Given the description of an element on the screen output the (x, y) to click on. 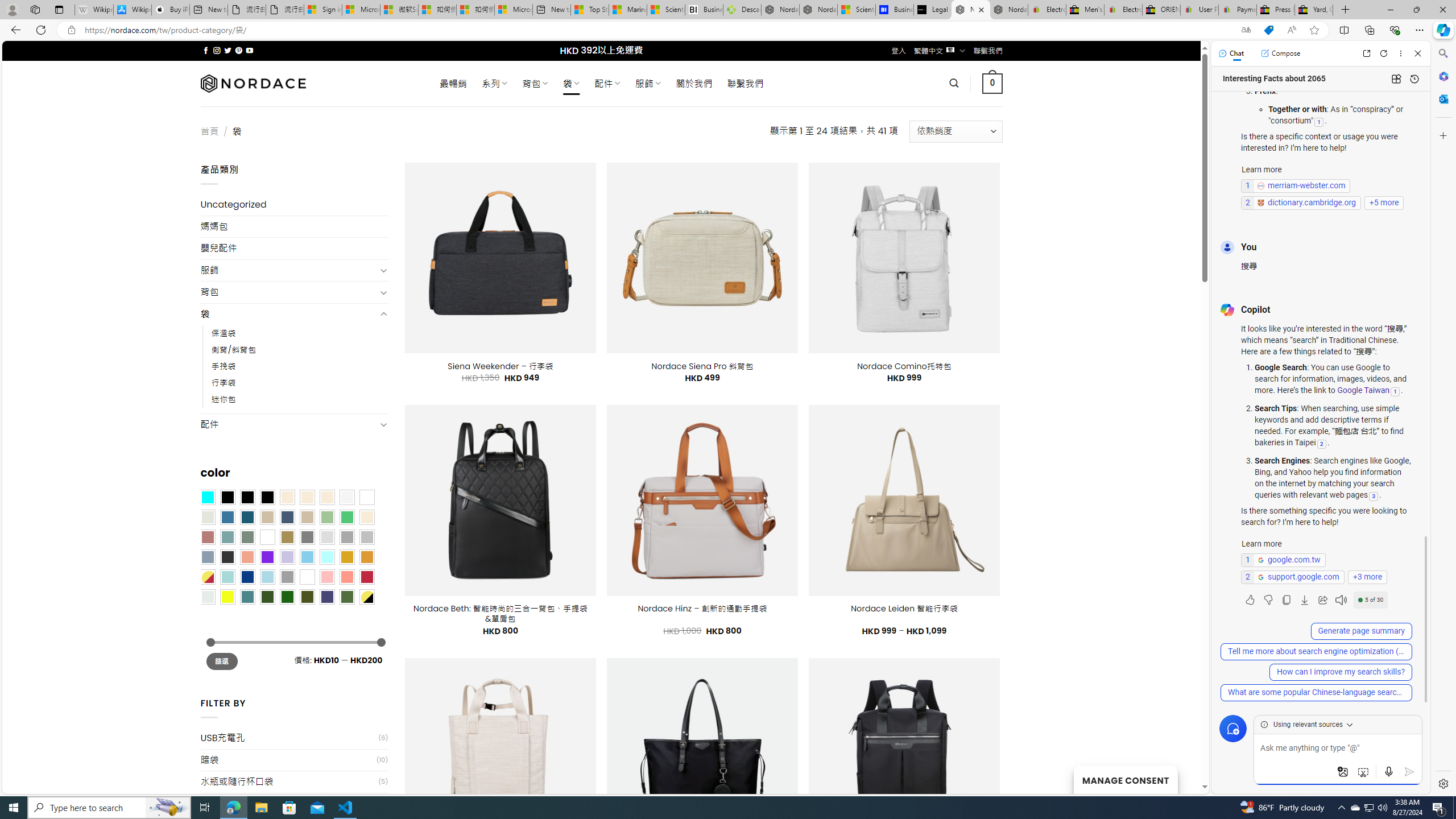
Cream (327, 497)
Follow on Twitter (227, 50)
